Given the description of an element on the screen output the (x, y) to click on. 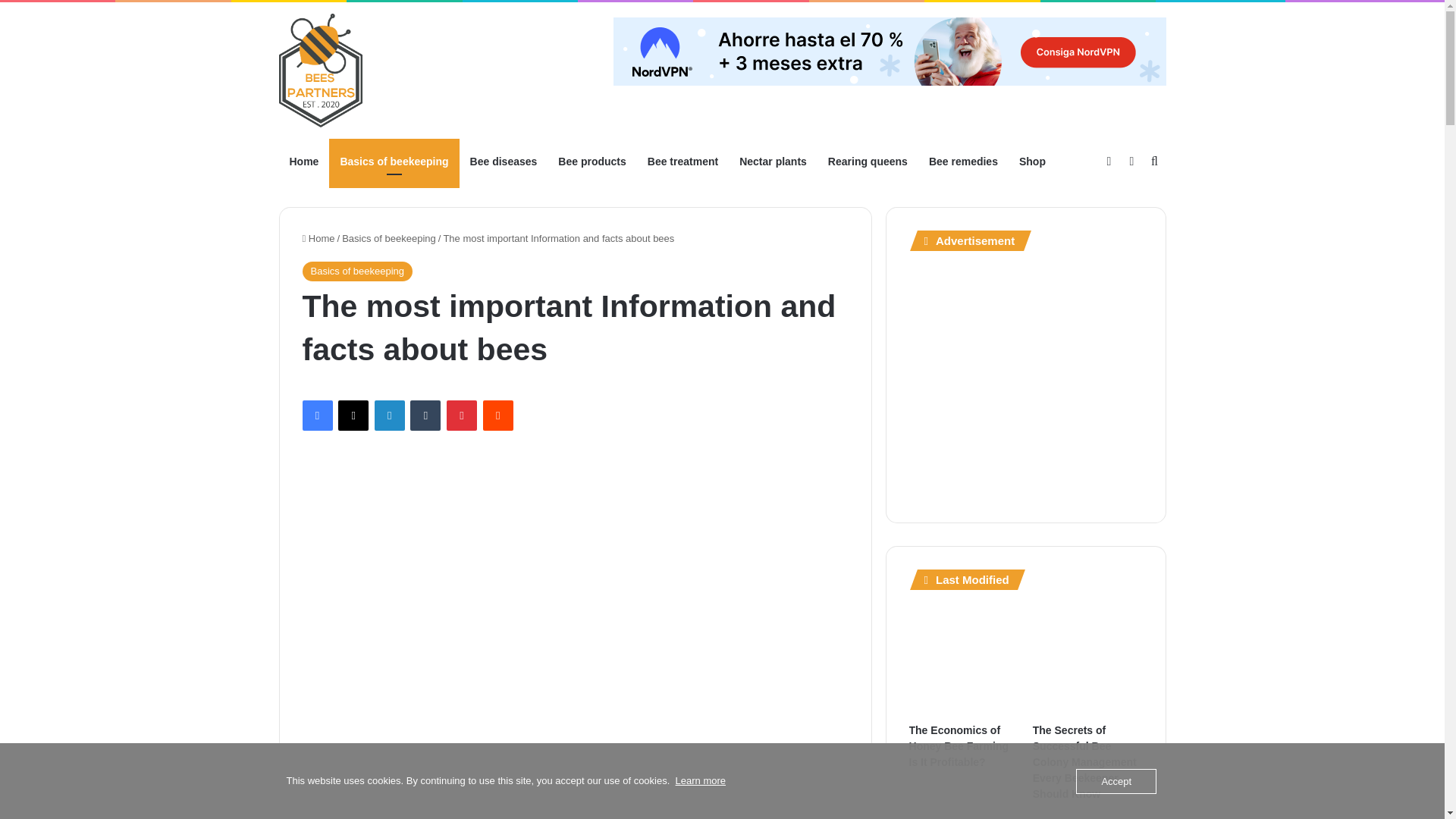
Home (304, 161)
Basics of beekeeping (356, 271)
Tumblr (425, 415)
Facebook (316, 415)
Shop (1033, 161)
Rearing queens (867, 161)
Basics of beekeeping (393, 161)
LinkedIn (389, 415)
Basics of beekeeping (388, 238)
Bee diseases (504, 161)
